Given the description of an element on the screen output the (x, y) to click on. 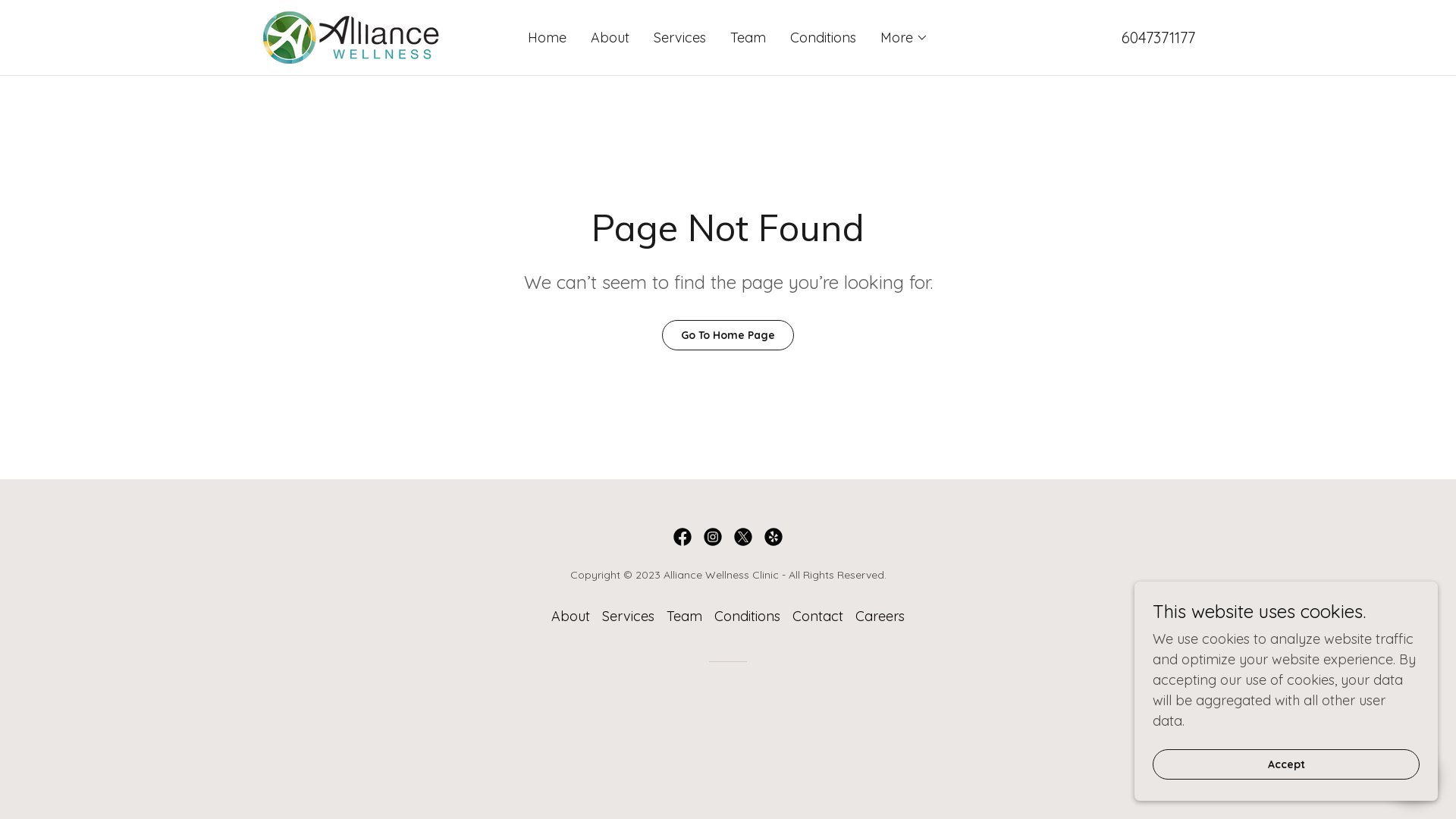
Alliance Wellness Clinics Element type: hover (350, 35)
Services Element type: text (628, 615)
Careers Element type: text (879, 615)
Conditions Element type: text (747, 615)
Team Element type: text (684, 615)
More Element type: text (904, 37)
About Element type: text (570, 615)
Go To Home Page Element type: text (727, 335)
Home Element type: text (547, 37)
Accept Element type: text (1285, 764)
Services Element type: text (679, 37)
Team Element type: text (747, 37)
Contact Element type: text (817, 615)
6047371177 Element type: text (1158, 36)
Conditions Element type: text (822, 37)
About Element type: text (609, 37)
